Given the description of an element on the screen output the (x, y) to click on. 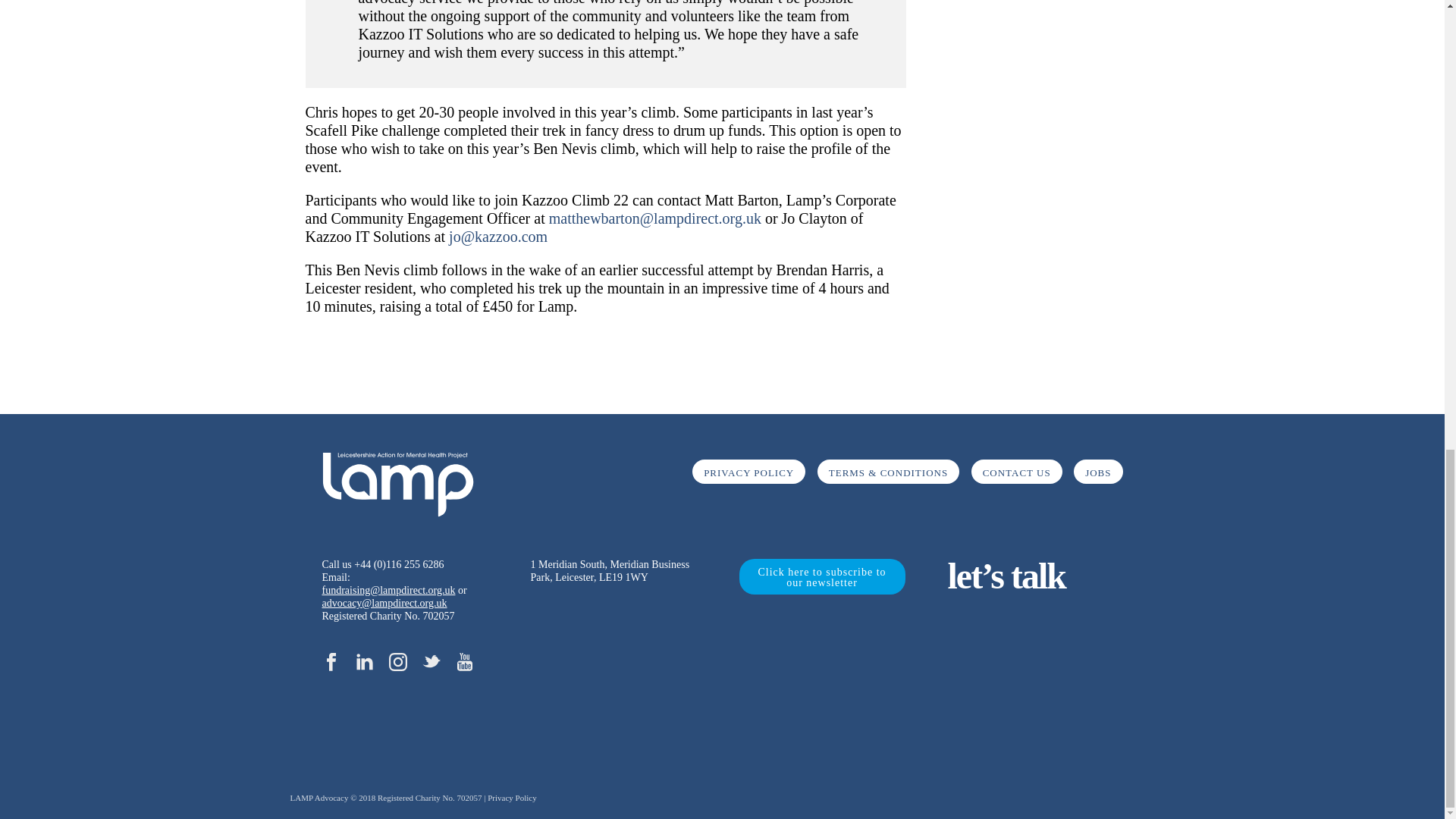
Follow Us on linkedin (363, 662)
Follow Us on twitter (430, 662)
Follow Us on facebook (330, 662)
Follow Us on youtube (463, 662)
Follow Us on instagram (397, 662)
